Given the description of an element on the screen output the (x, y) to click on. 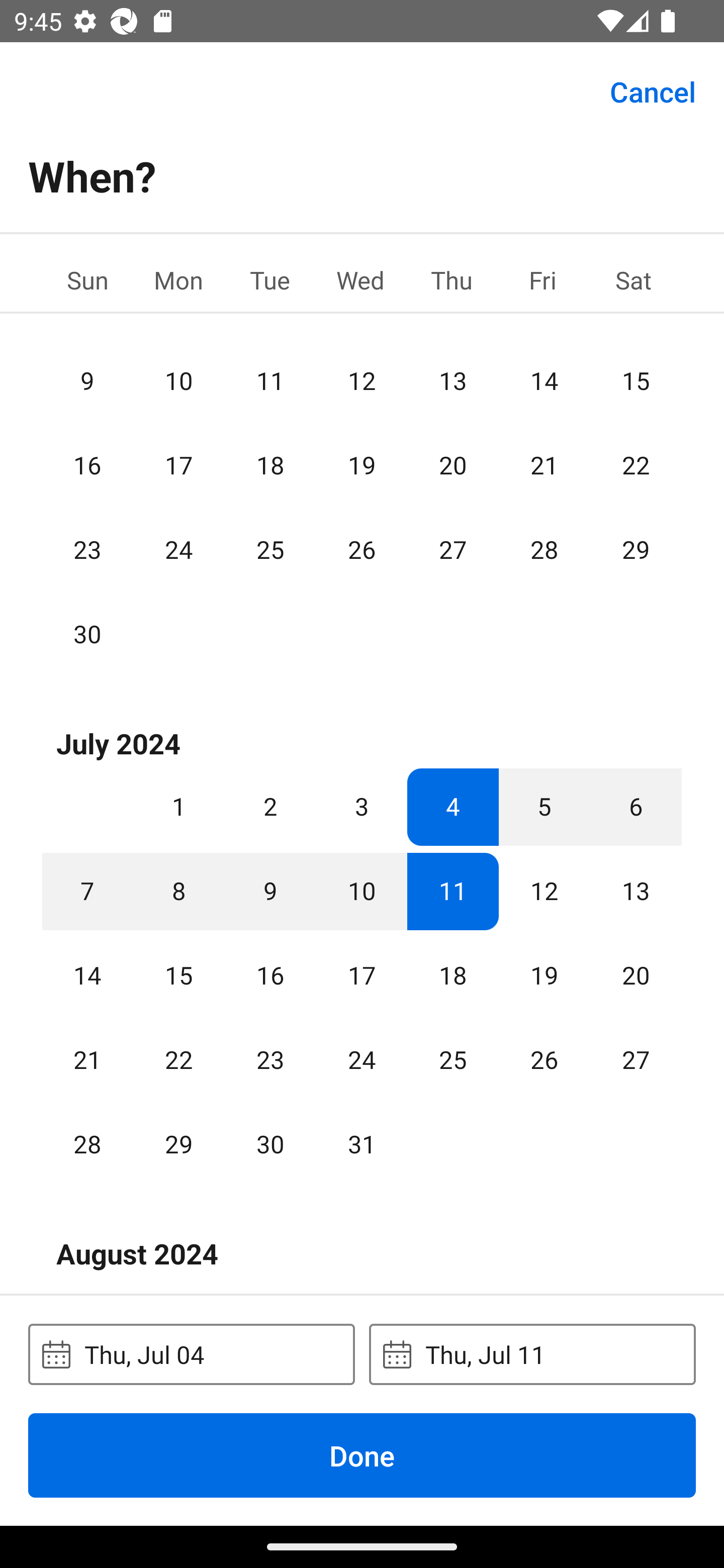
Cancel (652, 90)
Thu, Jul 04 (191, 1353)
Thu, Jul 11 (532, 1353)
Done (361, 1454)
